Given the description of an element on the screen output the (x, y) to click on. 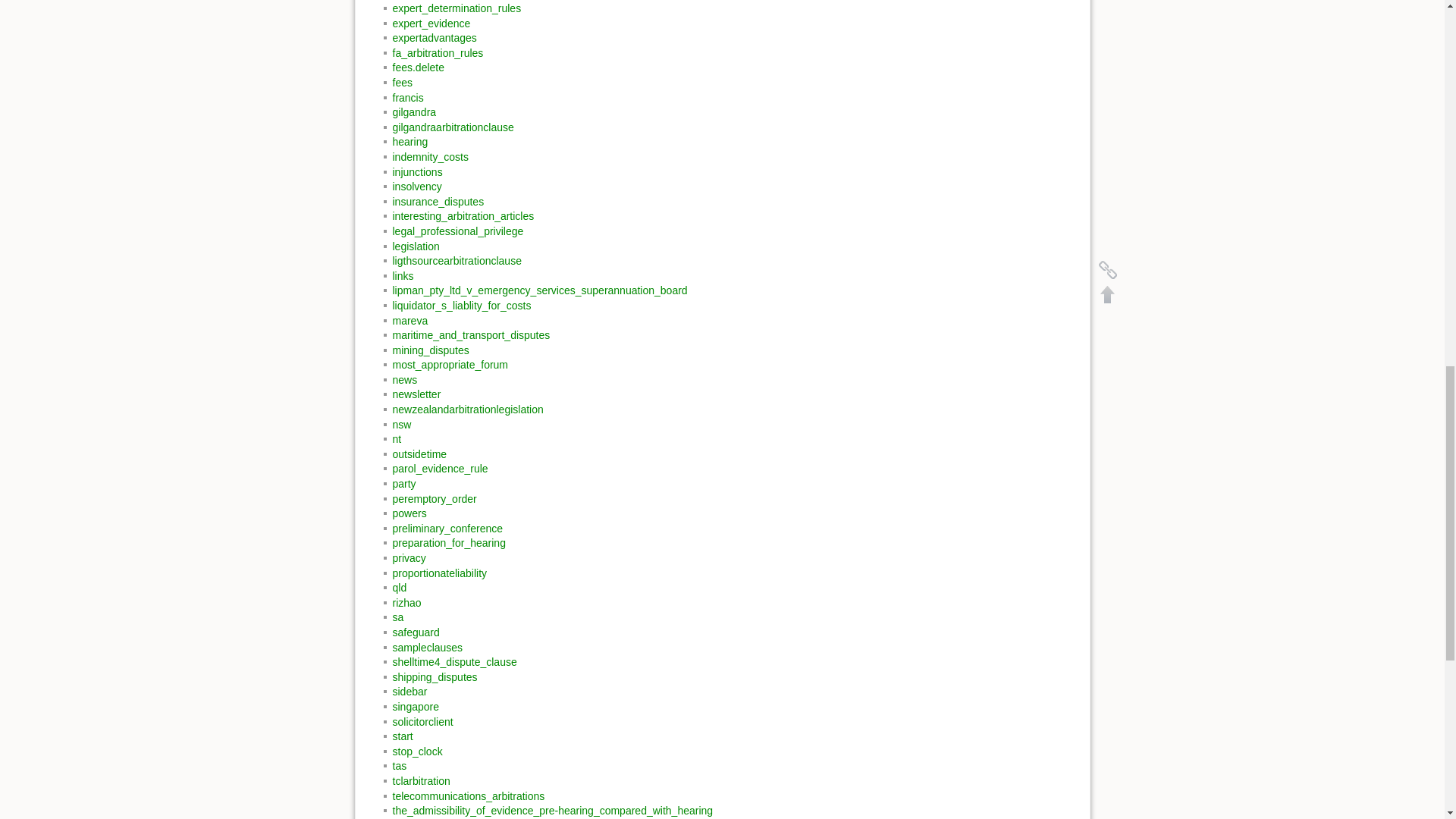
apple_claims_in_dispute Element type: text (450, 447)
building_arbitrations Element type: text (439, 611)
castel Element type: text (406, 744)
contact Element type: text (409, 774)
award Element type: text (406, 566)
adr@expertdeterminer.com.au Element type: text (578, 106)
arbitrator_to_decide_according_to_law_or_fairness Element type: text (512, 551)
coaching Element type: text (413, 759)
can_an_expert_determination_determine_quantum_merit_claims Element type: text (545, 655)
Sitemap Element type: text (1072, 173)
namespaces Element type: text (662, 298)
Search Element type: text (1082, 152)
http://www.expertdeterminer.com.au Element type: text (780, 106)
appeal_of_an_expert_determination Element type: text (477, 432)
advantages Element type: text (419, 357)
calderbank Element type: text (418, 625)
arbitrationsteps Element type: text (428, 521)
arbitrationadvantages Element type: text (443, 506)
discovery Element type: text (414, 803)
cases Element type: text (406, 729)
arbitration Element type: text (415, 476)
agricultural_disputes Element type: text (440, 388)
aed Element type: text (401, 373)
can_an_expert_determination_determine_trade_practices_claims Element type: text (546, 685)
admissabilitywhen Element type: text (435, 343)
appointment Element type: text (421, 462)
barclay_s_dispute_clause Element type: text (453, 580)
[F] Element type: hover (1007, 152)
arbitration_rules Element type: text (430, 492)
arbitrator Element type: text (413, 536)
act Element type: text (399, 328)
bias Element type: text (402, 595)
costs Element type: text (404, 789)
anti-suit_injunction Element type: text (436, 402)
aon Element type: text (401, 417)
